Given the description of an element on the screen output the (x, y) to click on. 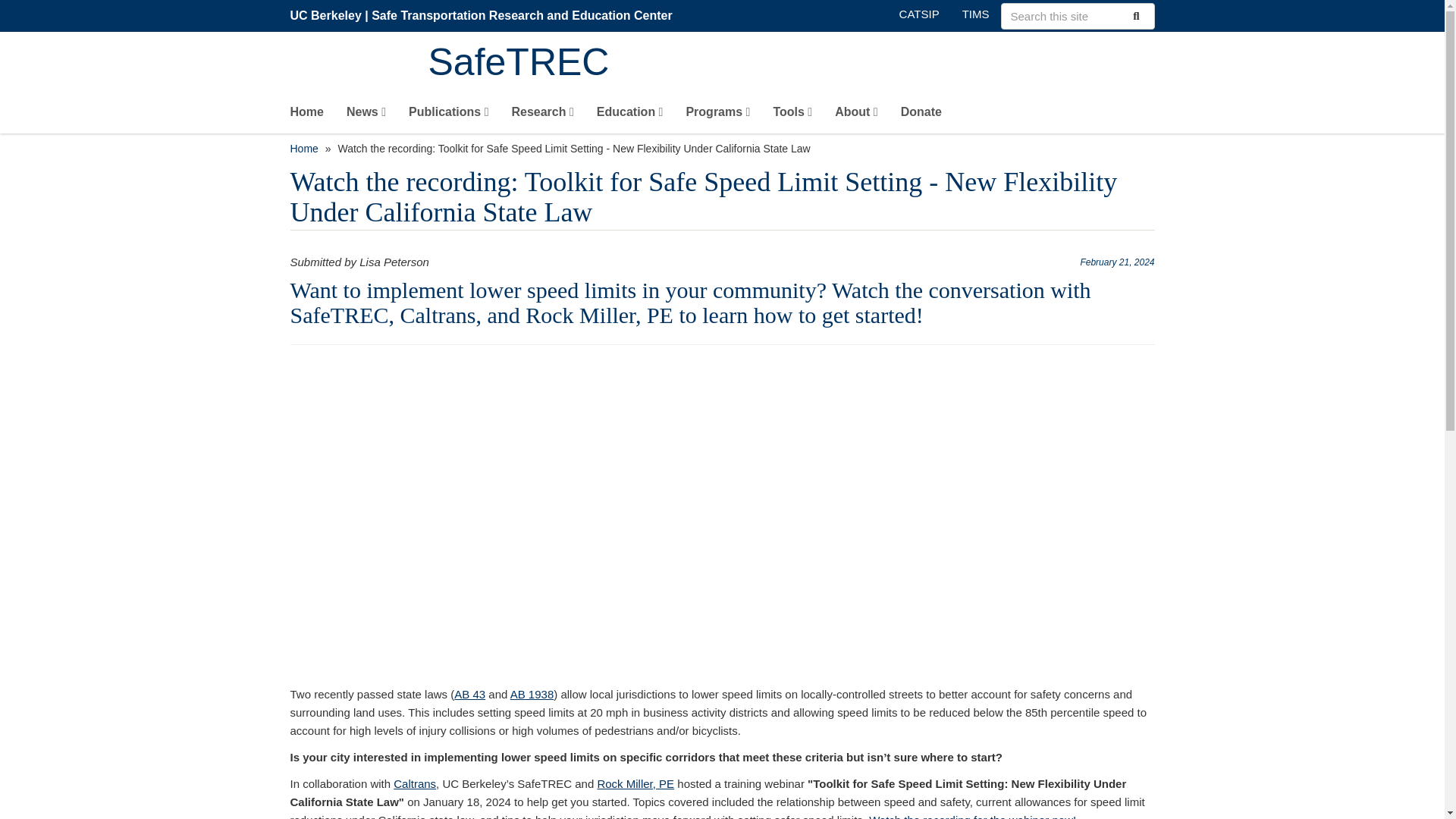
Research (542, 115)
Submit Search (1133, 15)
Home (791, 63)
Education (629, 115)
News (365, 115)
Publications (448, 115)
SafeTREC (791, 63)
Home (306, 115)
UC Berkeley (325, 15)
